Given the description of an element on the screen output the (x, y) to click on. 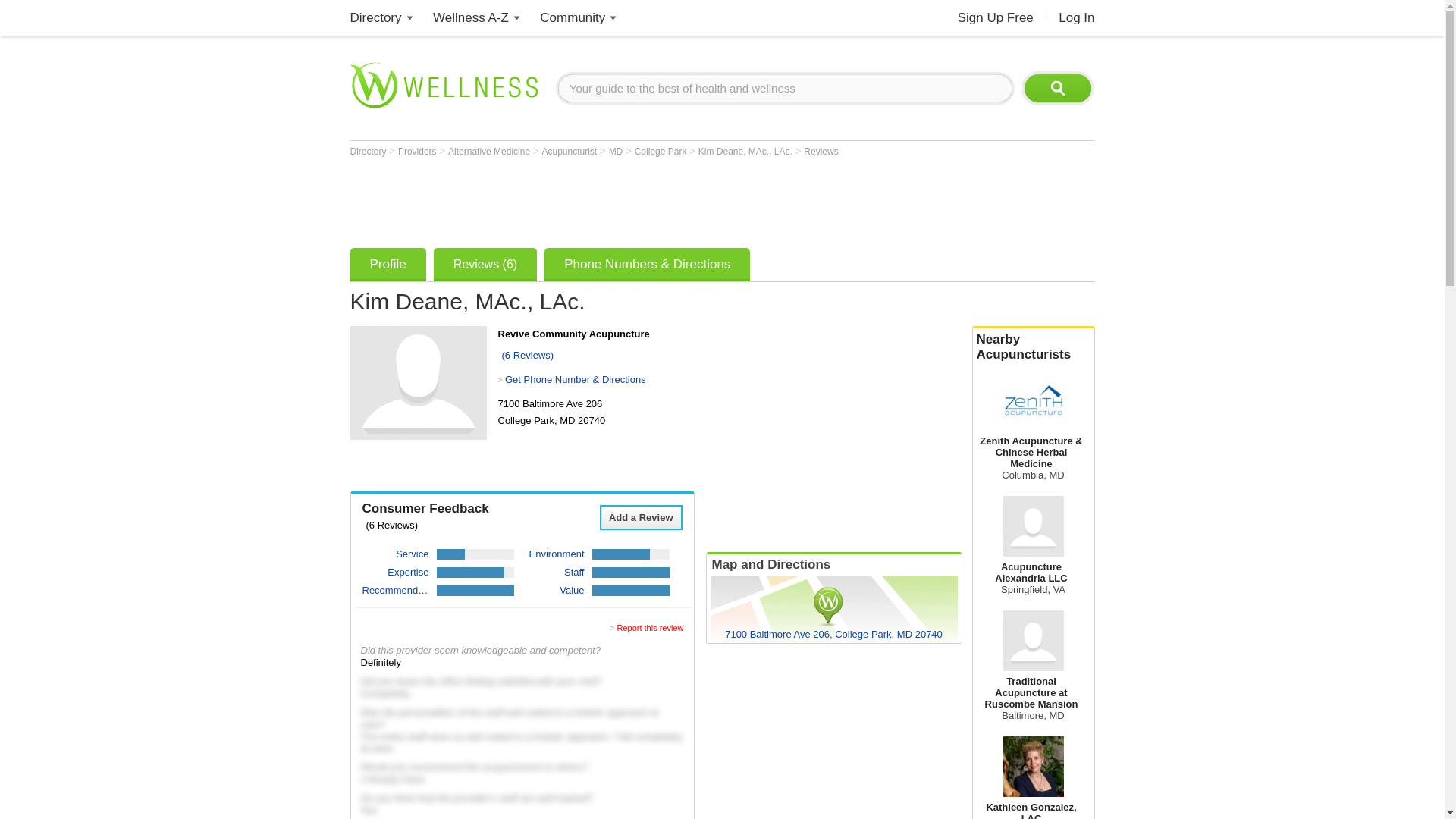
Your guide to the best of health and wellness (785, 88)
Wellness Directory (375, 17)
Directory (375, 17)
Your guide to the best of health and wellness (785, 88)
